Given the description of an element on the screen output the (x, y) to click on. 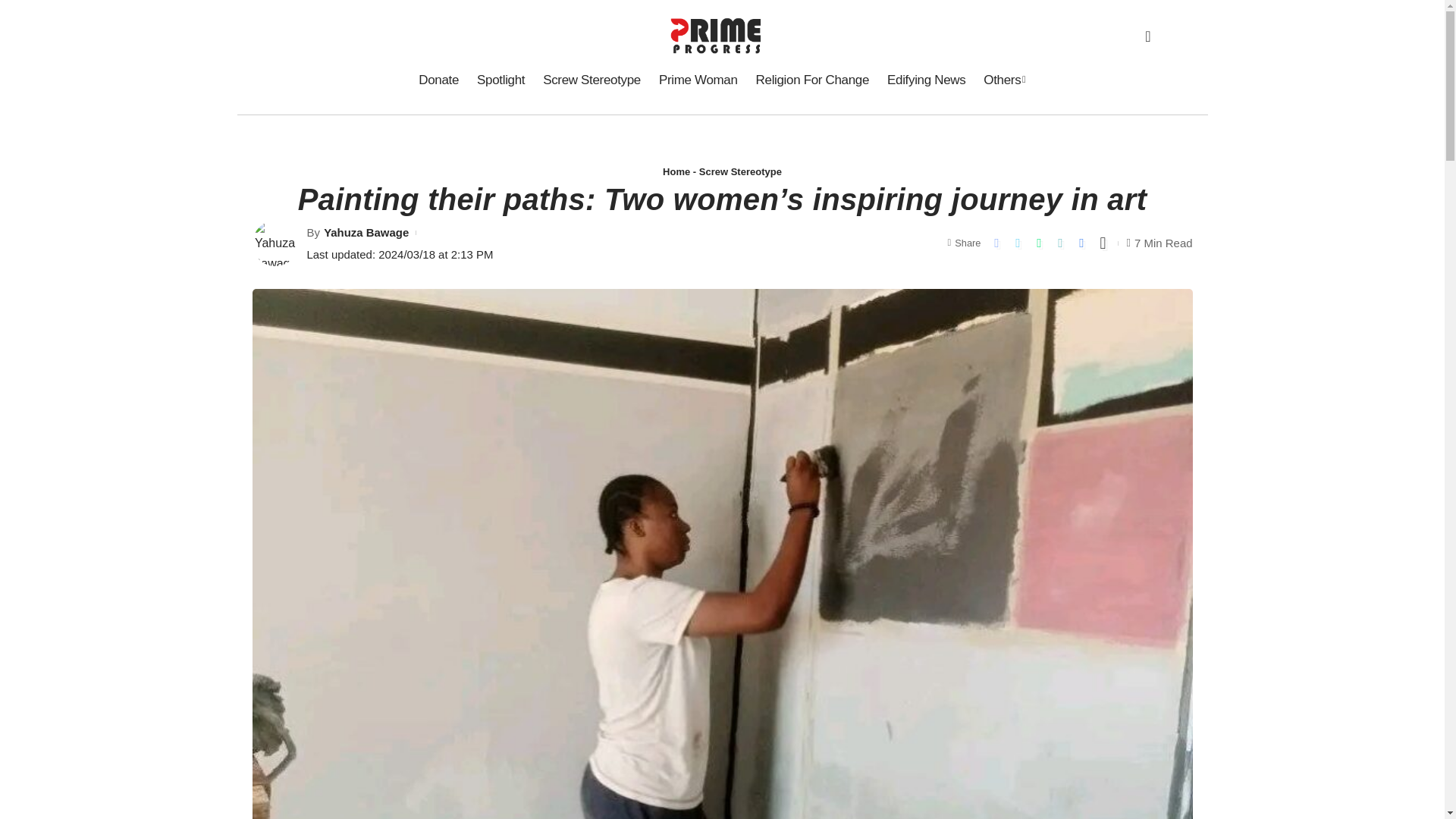
Religion For Change (811, 80)
Edifying News (925, 80)
Spotlight (500, 80)
Others (1003, 80)
Screw Stereotype (591, 80)
Prime Woman (697, 80)
Donate (438, 80)
